Given the description of an element on the screen output the (x, y) to click on. 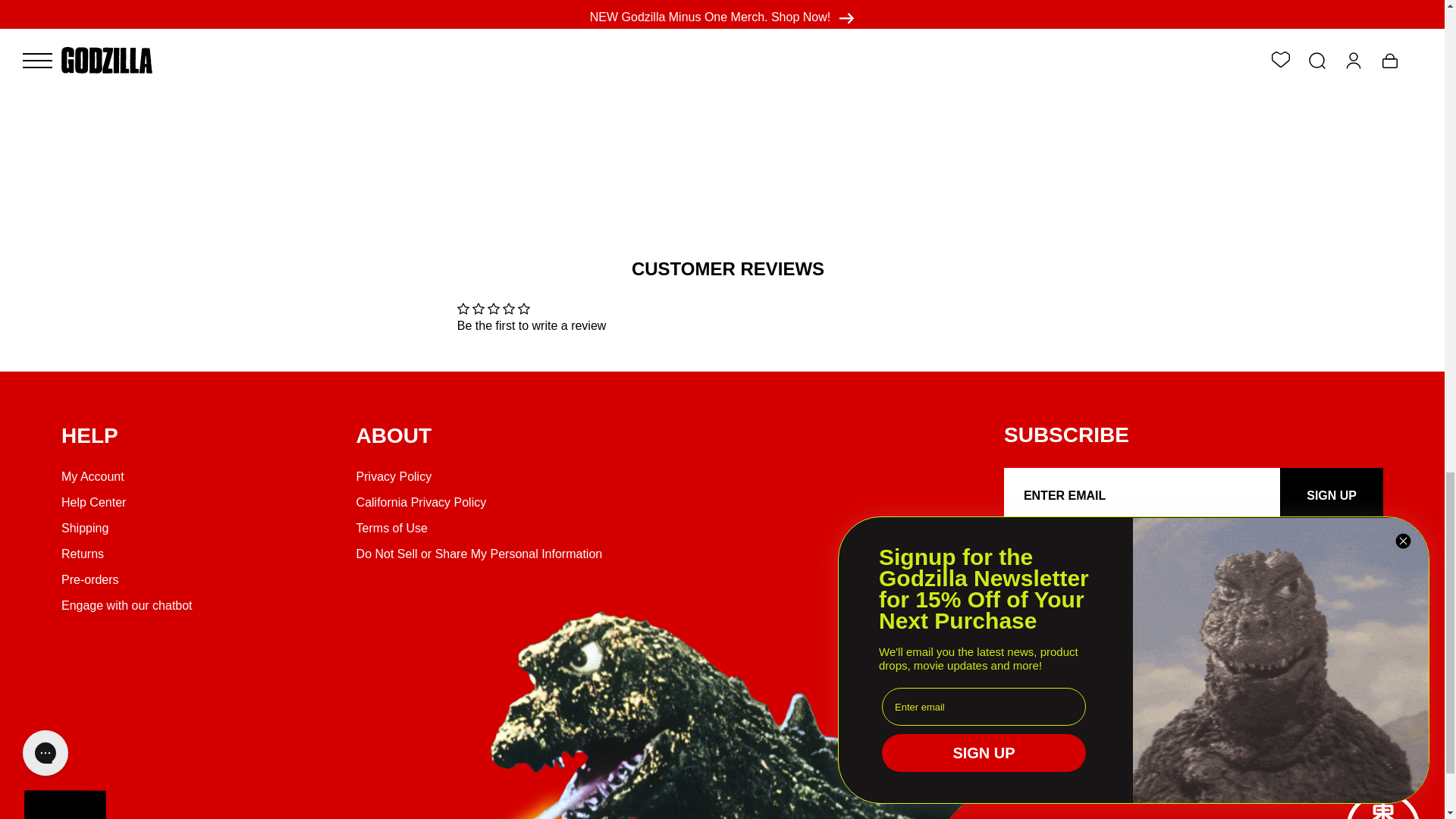
Instagram (1049, 551)
Facebook (1013, 551)
Twitter (1085, 551)
Youtube (1122, 551)
